Given the description of an element on the screen output the (x, y) to click on. 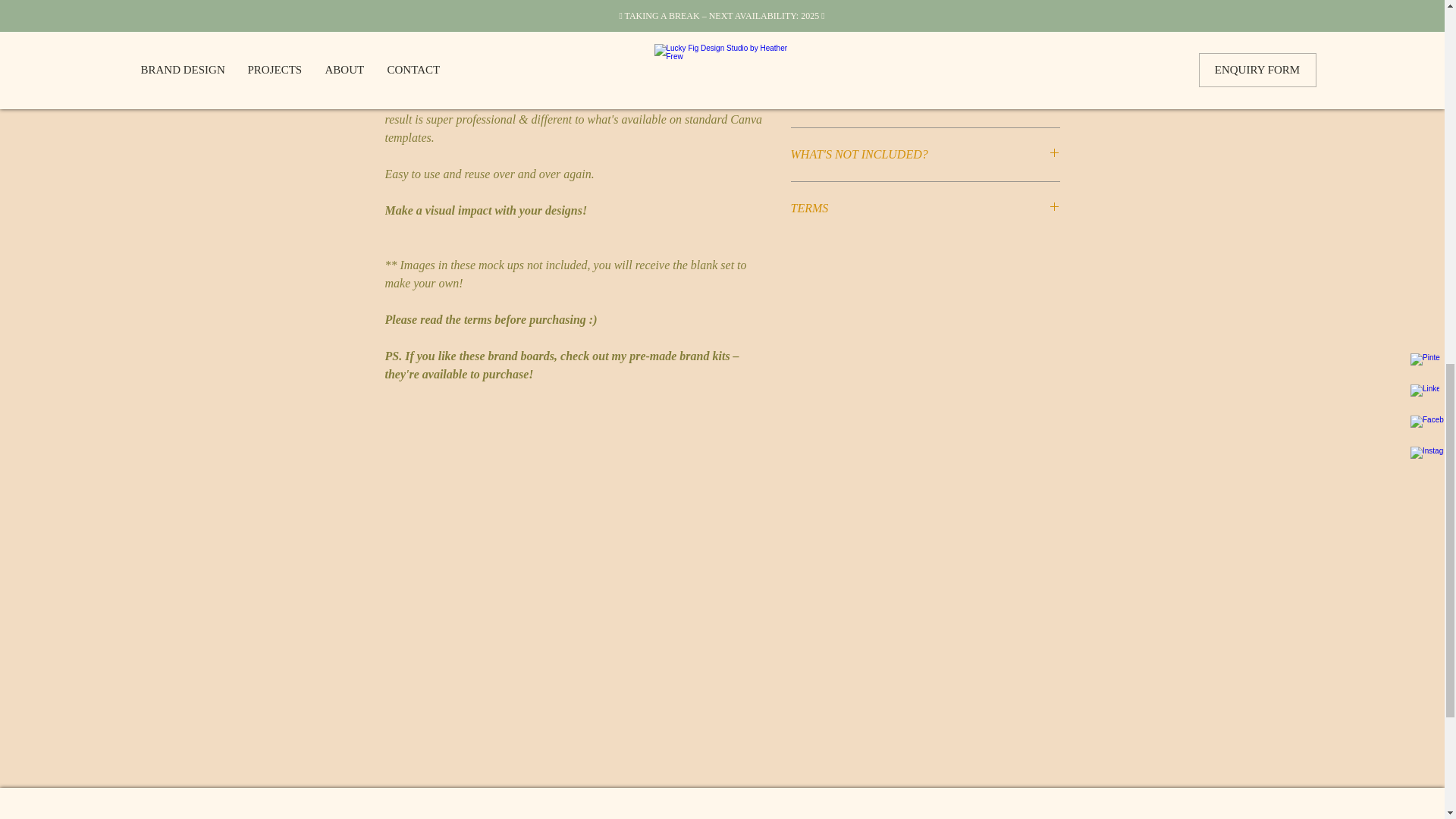
HOW DOES IT WORK? (924, 45)
TERMS (924, 208)
WHAT'S INCLUDED? (924, 99)
WHAT'S NOT INCLUDED? (924, 154)
